Given the description of an element on the screen output the (x, y) to click on. 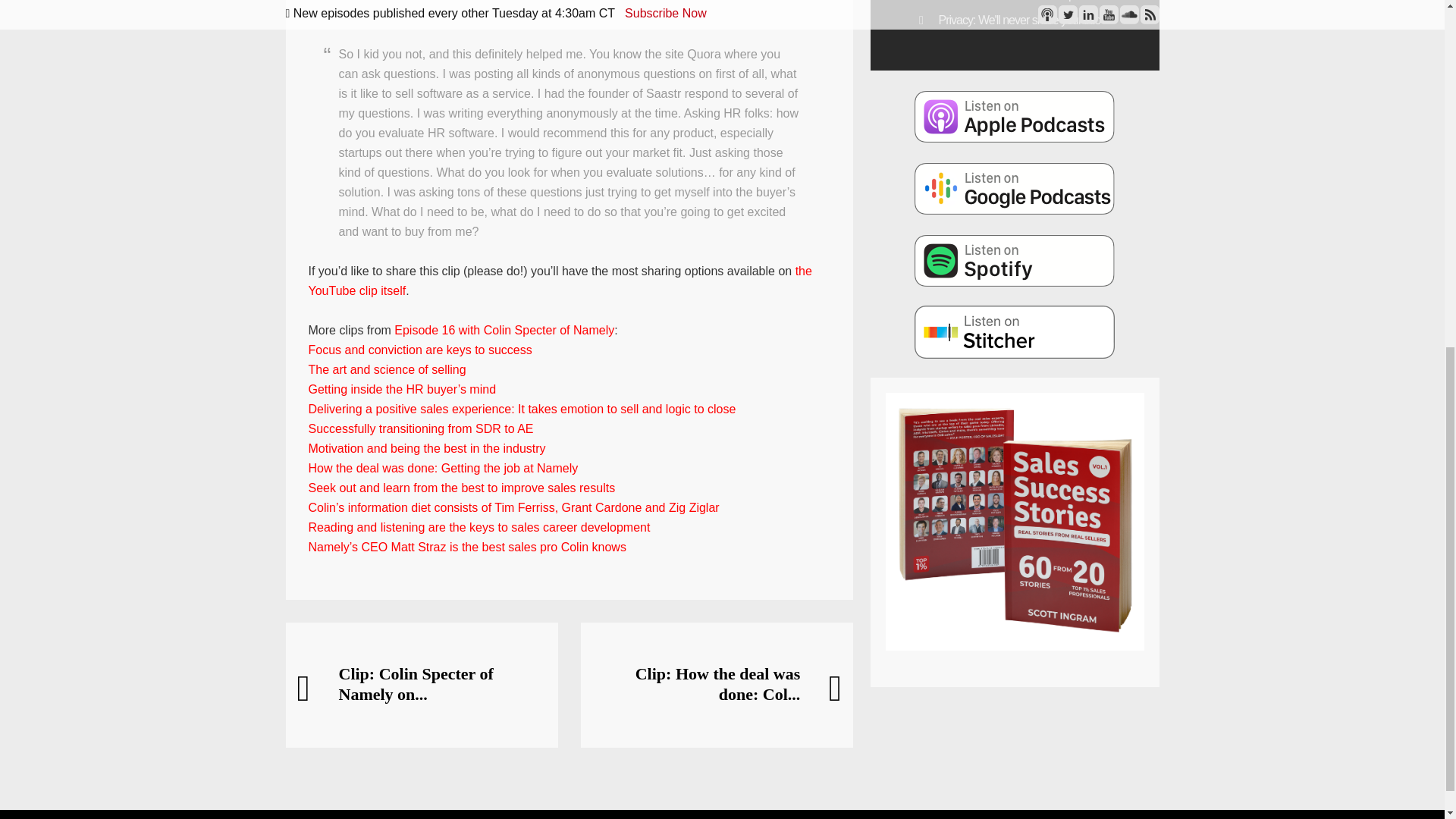
Seek out and learn from the best to improve sales results (460, 487)
Sales Success Stories on Stitcher (1014, 331)
the YouTube clip itself (558, 280)
Sales Success Stories on Google Podcasts (1014, 187)
Episode 16 with Colin Specter of Namely (504, 329)
Successfully transitioning from SDR to AE (419, 428)
Focus and conviction are keys to success (419, 349)
Sales Success Stories on Spotify (1014, 259)
The art and science of selling (386, 369)
Sales Success Stories on Apple Podcasts (1014, 115)
How the deal was done: Getting the job at Namely (442, 468)
Motivation and being the best in the industry (425, 448)
